Given the description of an element on the screen output the (x, y) to click on. 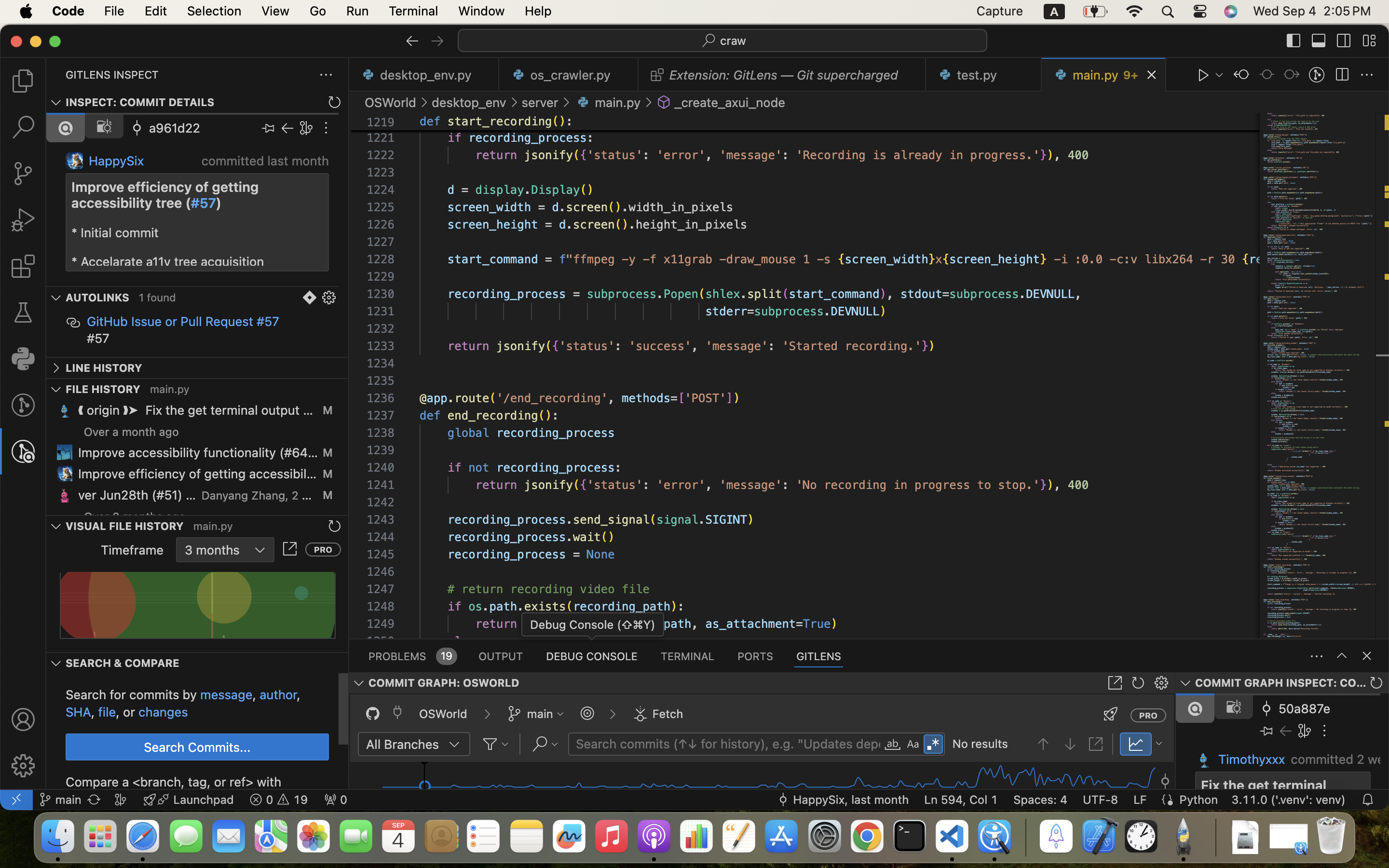
VISUAL FILE HISTORY Element type: AXStaticText (124, 525)
Improve efficiency of getting accessibility tree ( Element type: AXStaticText (166, 195)
 Element type: AXStaticText (639, 713)
1 found Element type: AXStaticText (157, 297)
HappySix, last month  Element type: AXButton (842, 799)
